Given the description of an element on the screen output the (x, y) to click on. 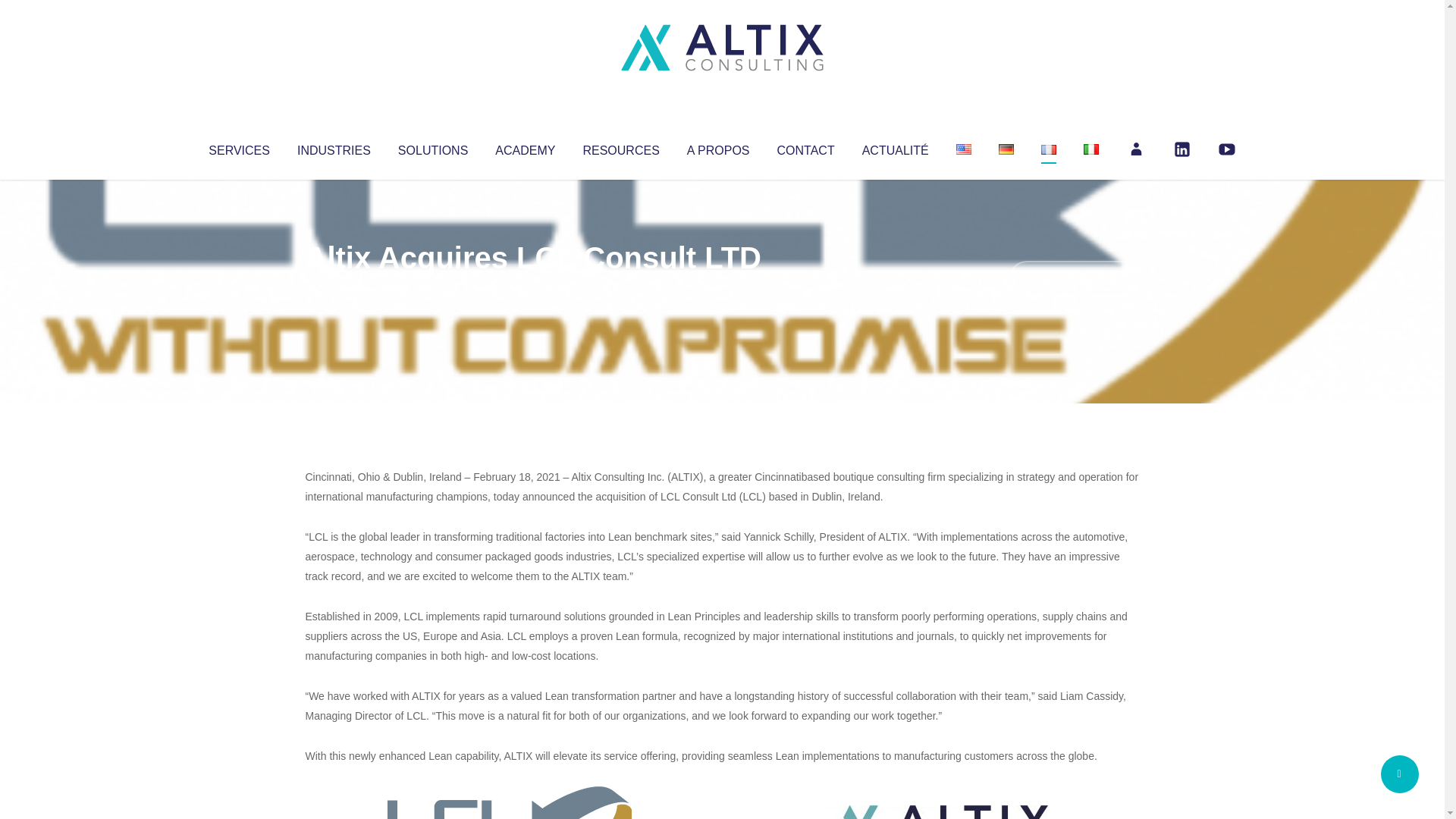
RESOURCES (620, 146)
INDUSTRIES (334, 146)
SERVICES (238, 146)
Altix (333, 287)
SOLUTIONS (432, 146)
No Comments (1073, 278)
Articles par Altix (333, 287)
Uncategorized (530, 287)
A PROPOS (718, 146)
ACADEMY (524, 146)
